Given the description of an element on the screen output the (x, y) to click on. 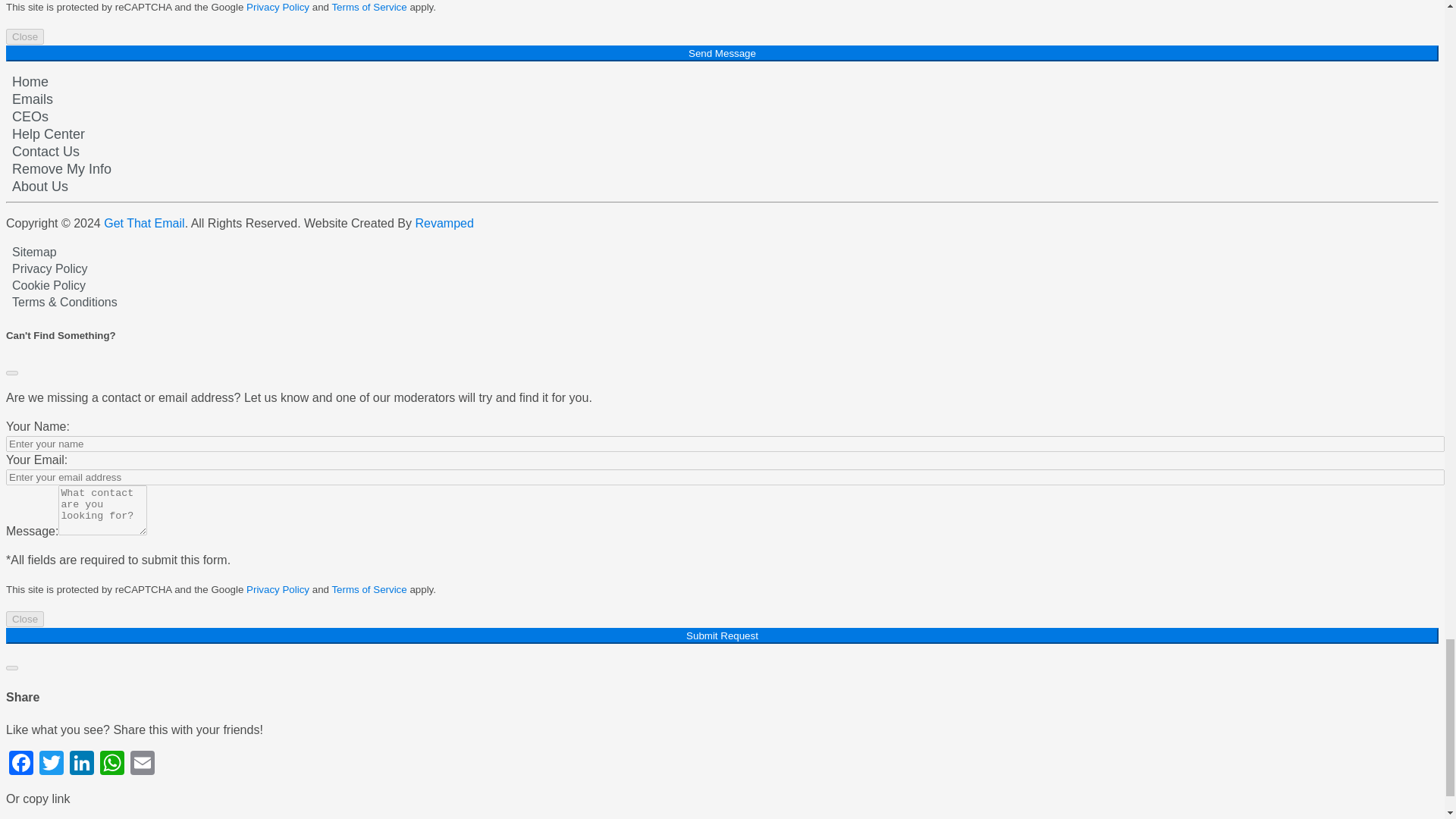
Email (142, 764)
WhatsApp (112, 764)
Twitter (51, 764)
Facebook (20, 764)
LinkedIn (81, 764)
